Given the description of an element on the screen output the (x, y) to click on. 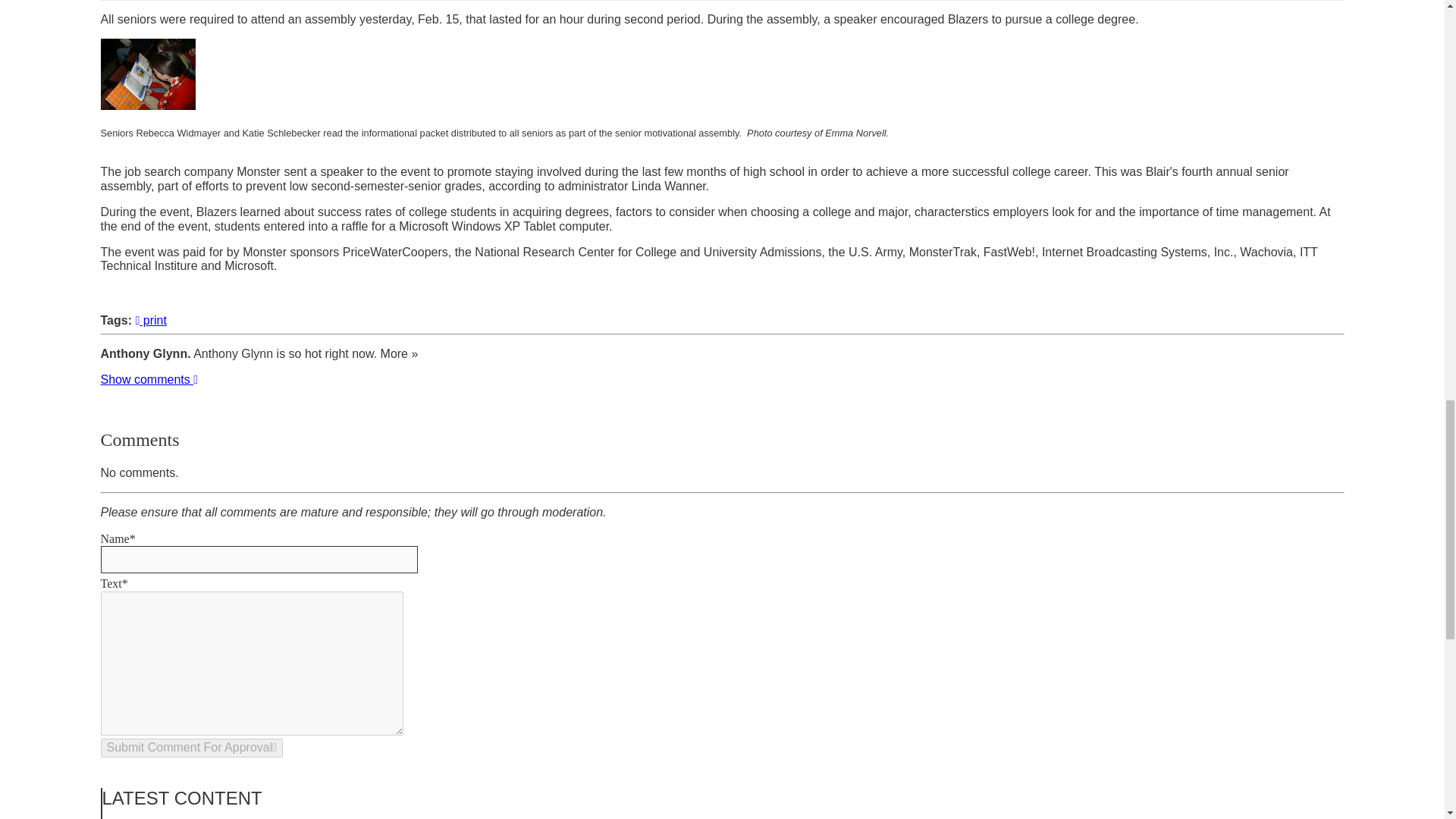
Submit Comment For Approval (191, 747)
print (150, 319)
Show comments (149, 379)
